Given the description of an element on the screen output the (x, y) to click on. 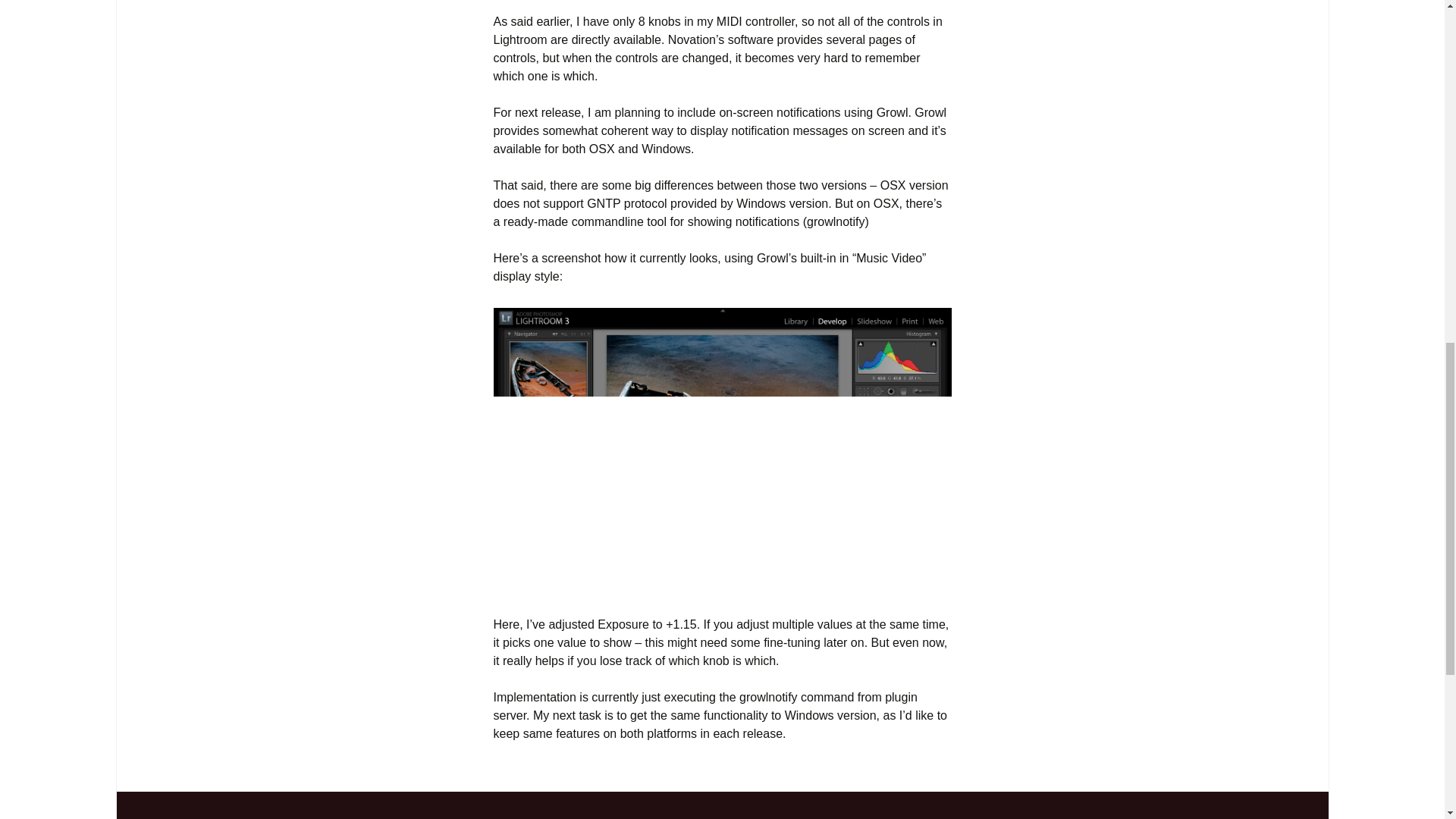
Lightroom with Growl notification (721, 450)
